Given the description of an element on the screen output the (x, y) to click on. 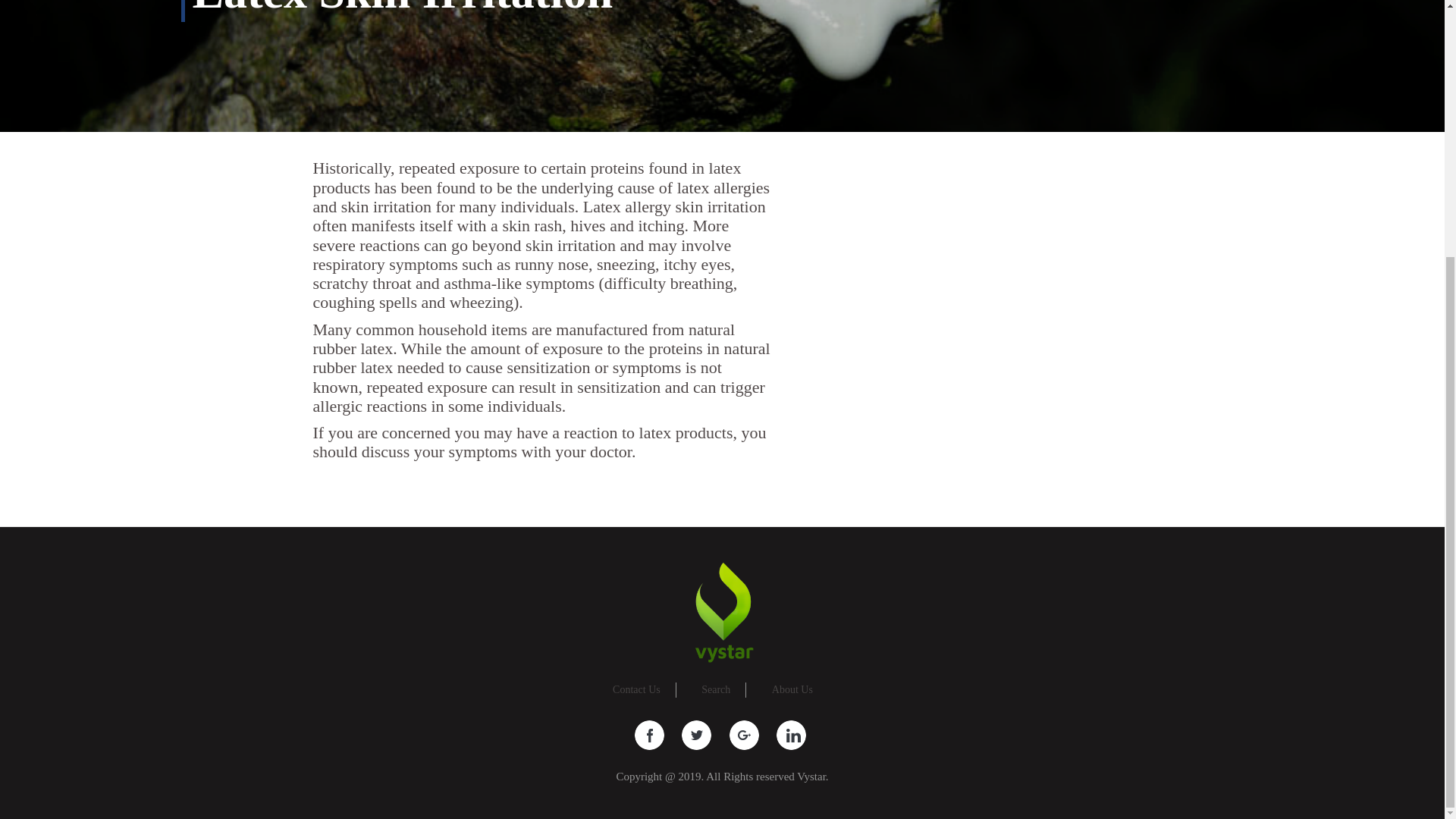
About Us (791, 689)
Search (715, 689)
Contact Us (636, 689)
